Given the description of an element on the screen output the (x, y) to click on. 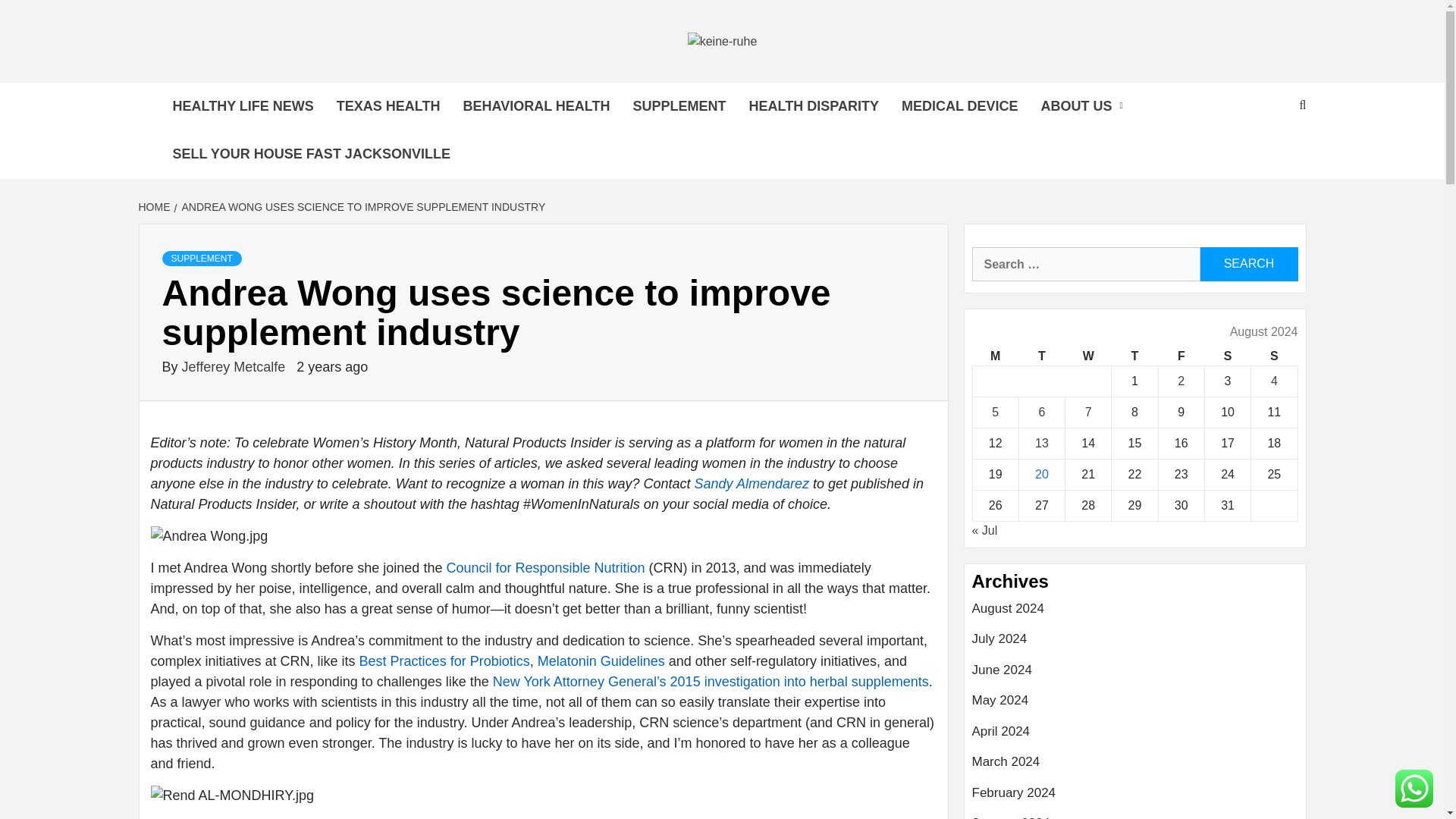
Search (1248, 264)
HEALTHY LIFE NEWS (242, 106)
BEHAVIORAL HEALTH (536, 106)
ANDREA WONG USES SCIENCE TO IMPROVE SUPPLEMENT INDUSTRY (362, 206)
HOME (155, 206)
SELL YOUR HOUSE FAST JACKSONVILLE (310, 154)
HEALTH DISPARITY (813, 106)
Best Practices for Probiotics (444, 661)
TEXAS HEALTH (387, 106)
Search (1248, 264)
